Given the description of an element on the screen output the (x, y) to click on. 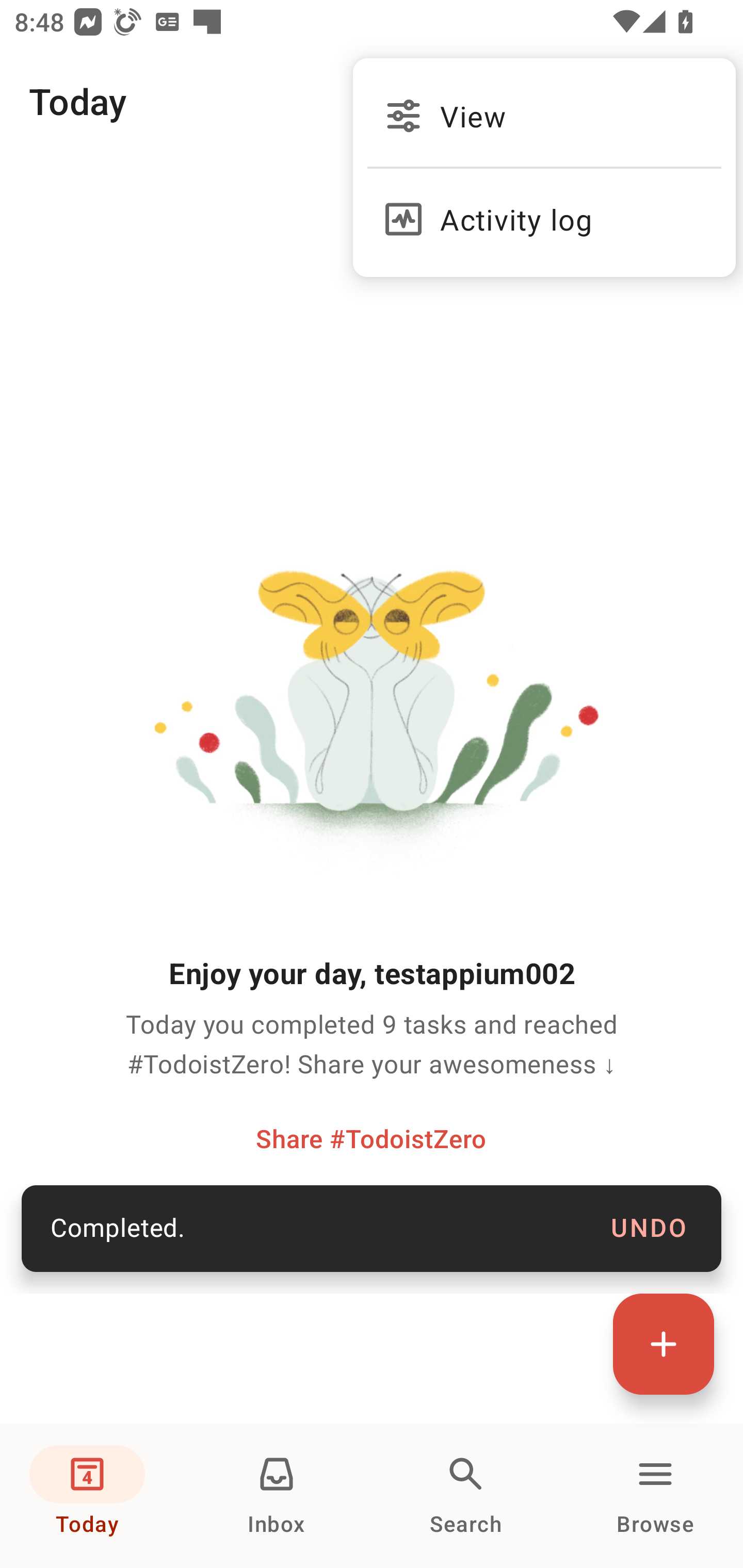
View (544, 115)
Activity log (544, 210)
